Given the description of an element on the screen output the (x, y) to click on. 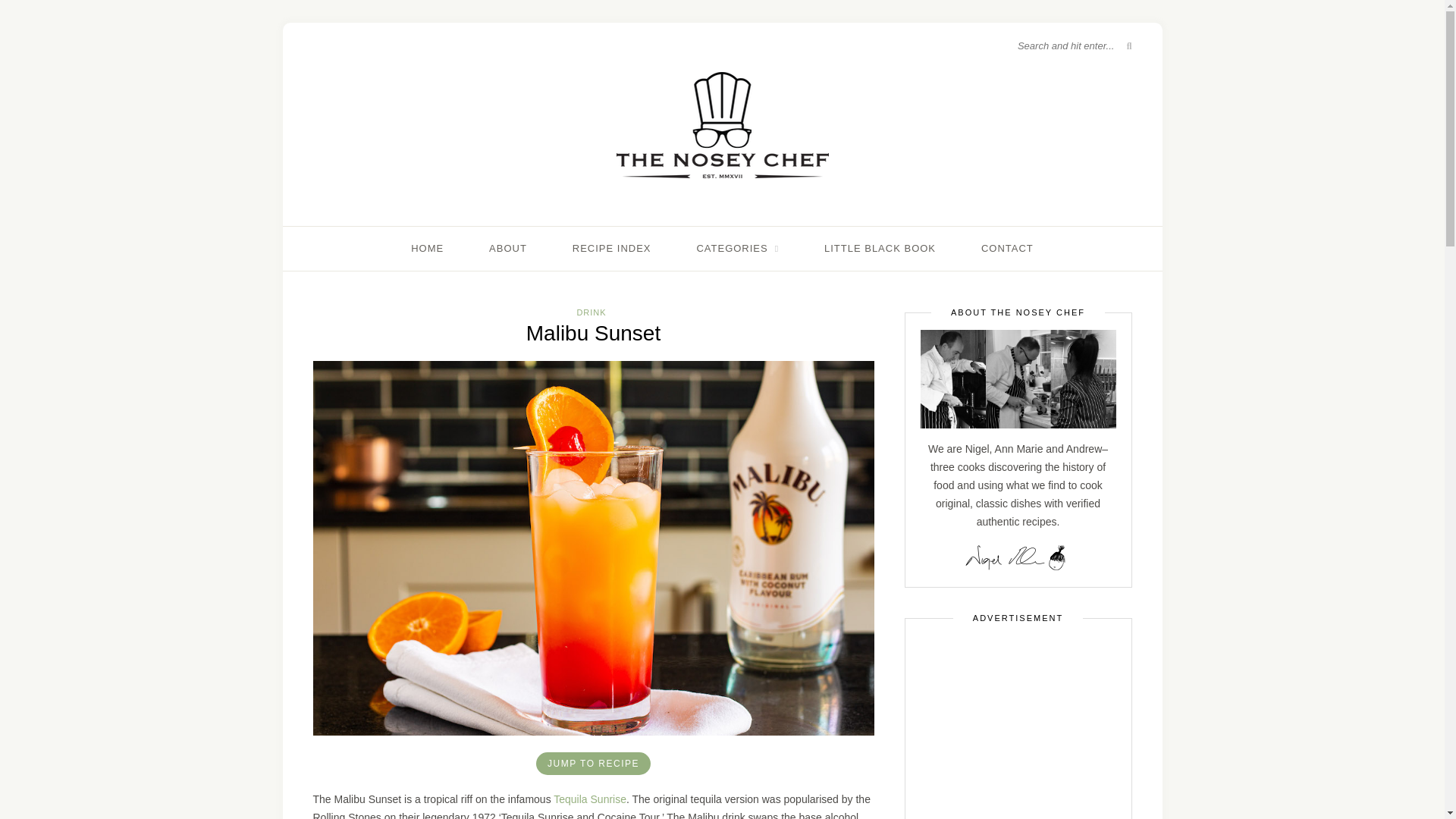
HOME (427, 248)
RECIPE INDEX (611, 248)
Tequila Sunrise (589, 799)
Advertisement (1018, 727)
ABOUT (508, 248)
LITTLE BLACK BOOK (880, 248)
CONTACT (1007, 248)
JUMP TO RECIPE (592, 763)
DRINK (590, 311)
CATEGORIES (736, 248)
